Given the description of an element on the screen output the (x, y) to click on. 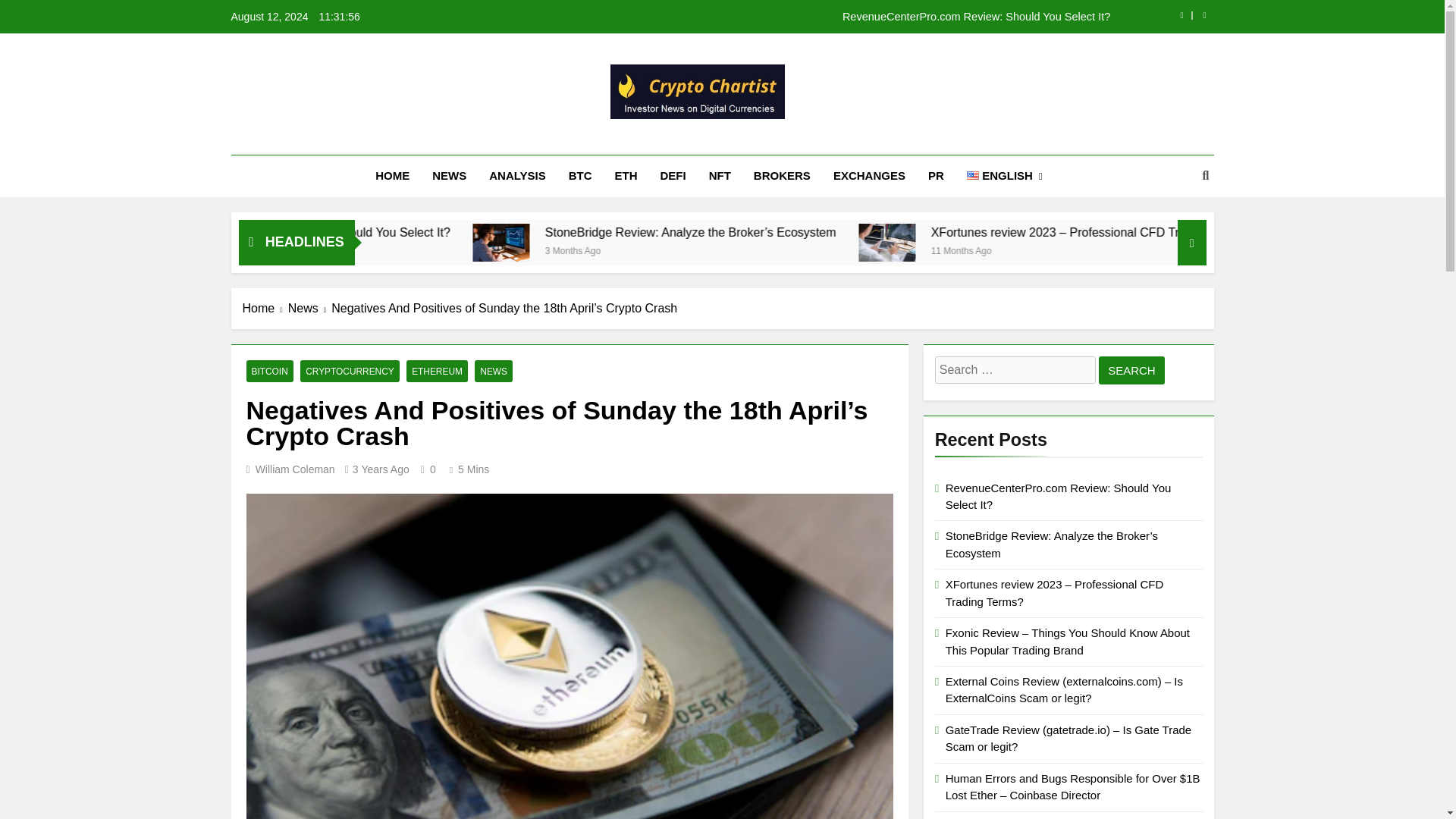
NEWS (448, 175)
RevenueCenterPro.com Review: Should You Select It? (817, 16)
NFT (719, 175)
Search (1131, 370)
BROKERS (782, 175)
EXCHANGES (869, 175)
3 Months Ago (768, 249)
RevenueCenterPro.com Review: Should You Select It? (507, 232)
DEFI (673, 175)
2 Months Ago (385, 249)
